Given the description of an element on the screen output the (x, y) to click on. 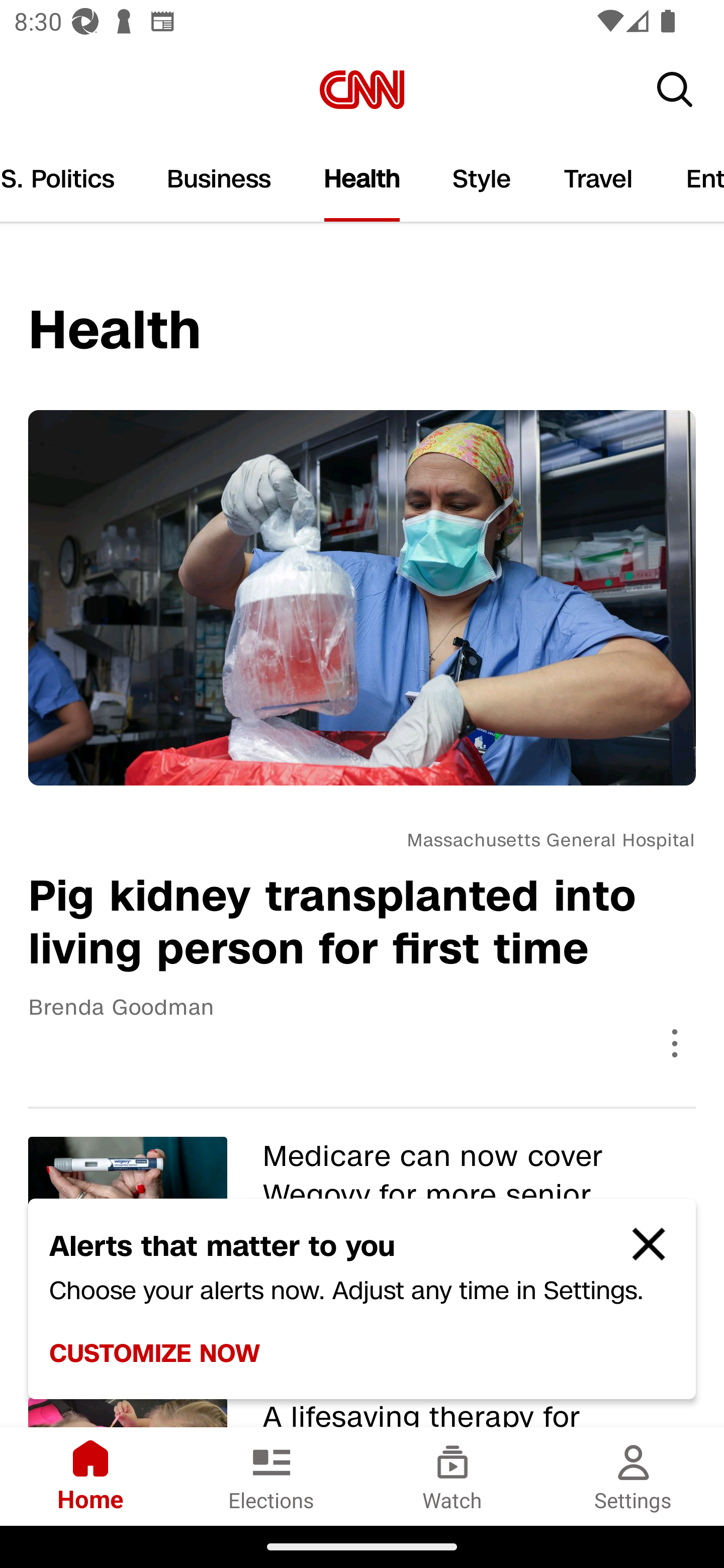
U.S. Politics (70, 179)
Business (218, 179)
Style (481, 179)
Travel (598, 179)
More actions (674, 1042)
close (639, 1251)
Elections (271, 1475)
Watch (452, 1475)
Settings (633, 1475)
